Given the description of an element on the screen output the (x, y) to click on. 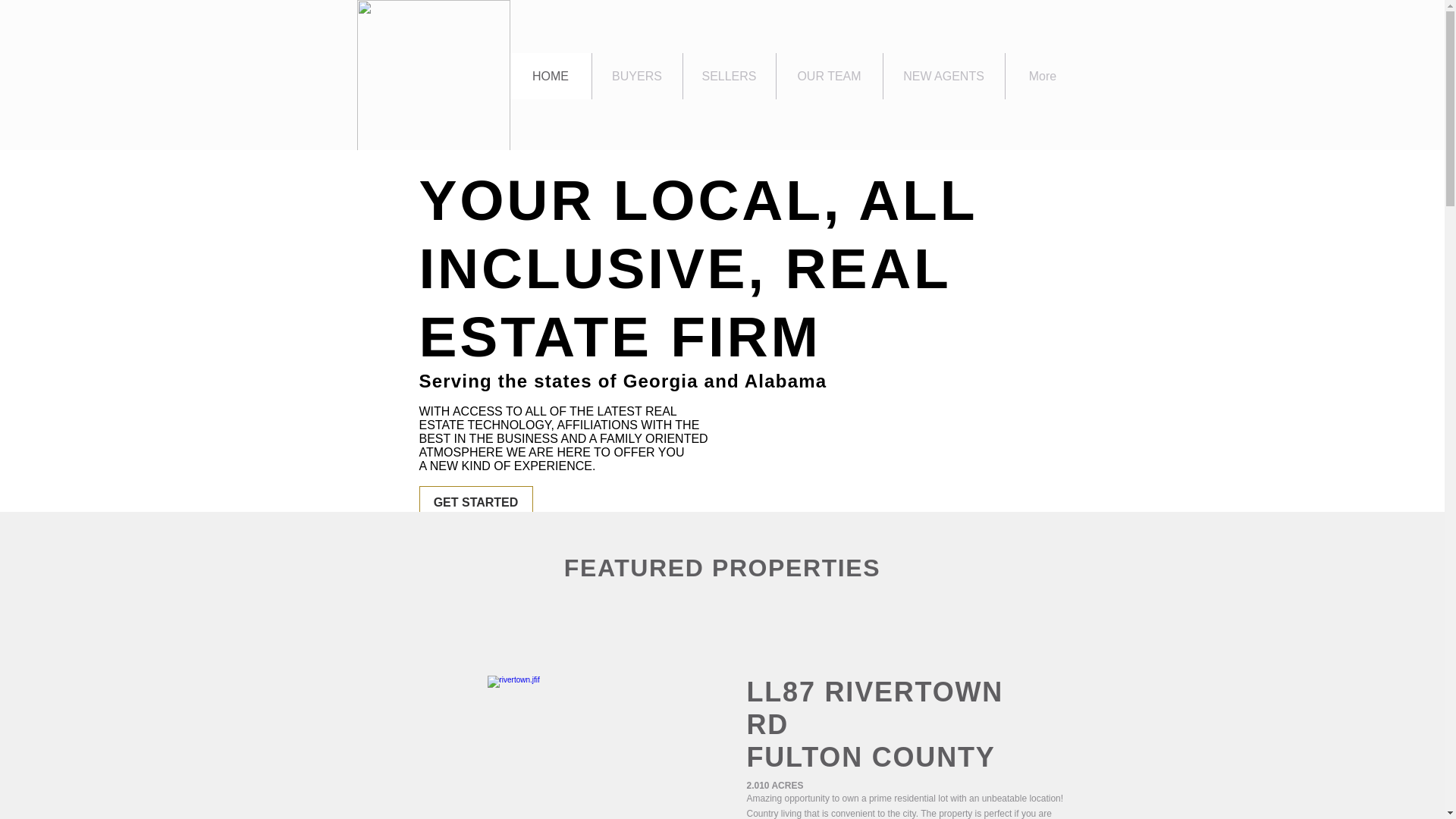
Prosperity-Real-Estate-Group-A1.png (432, 76)
OUR TEAM (874, 724)
GET STARTED (828, 76)
HOME (475, 503)
BUYERS (550, 76)
NEW AGENTS (636, 76)
SELLERS (943, 76)
